Given the description of an element on the screen output the (x, y) to click on. 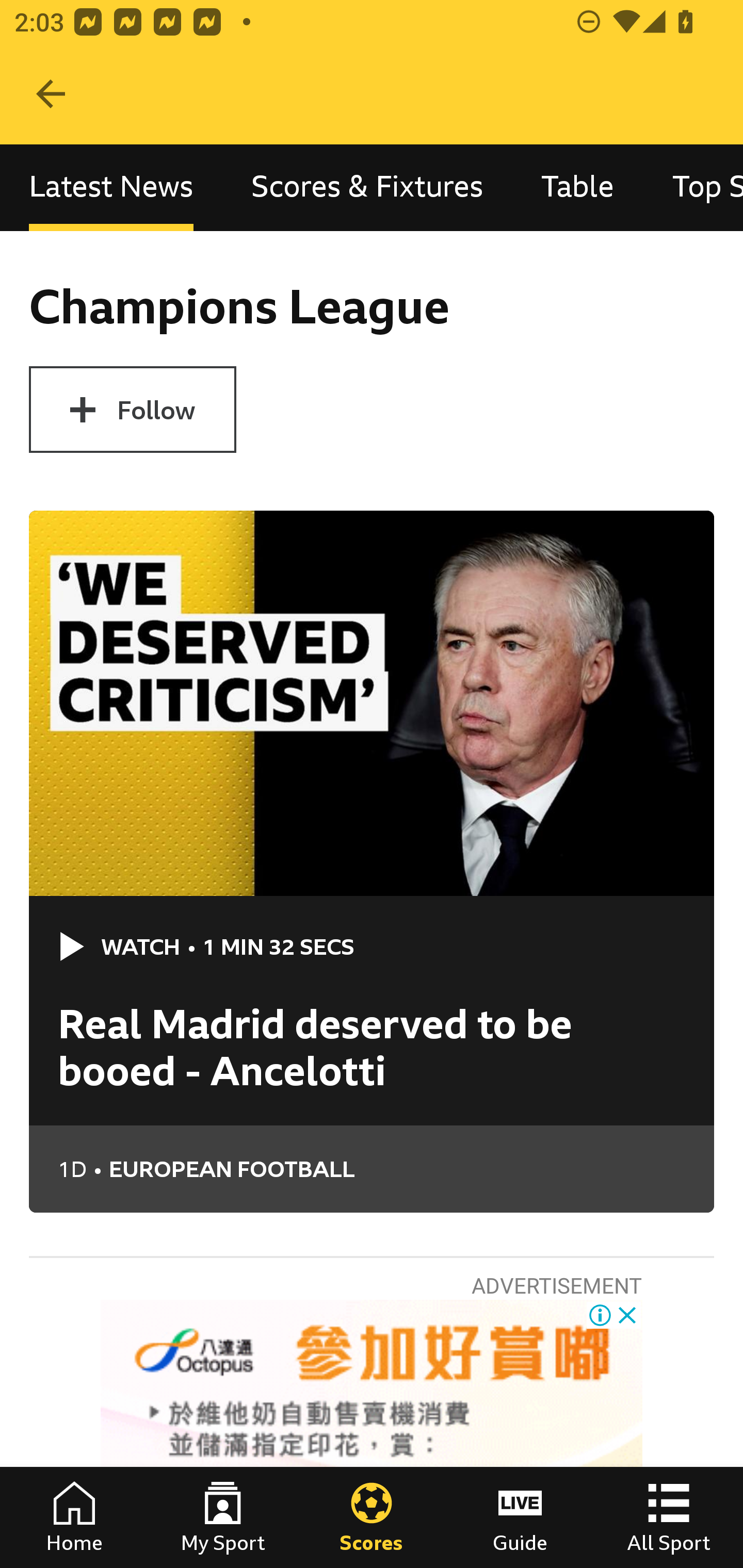
Navigate up (50, 93)
Latest News, selected Latest News (111, 187)
Scores & Fixtures (367, 187)
Table (577, 187)
Follow Champions League Follow (132, 409)
EUROPEAN FOOTBALL In the section European Football (411, 1168)
Advertisement (371, 1433)
Home (74, 1517)
My Sport (222, 1517)
Guide (519, 1517)
All Sport (668, 1517)
